Given the description of an element on the screen output the (x, y) to click on. 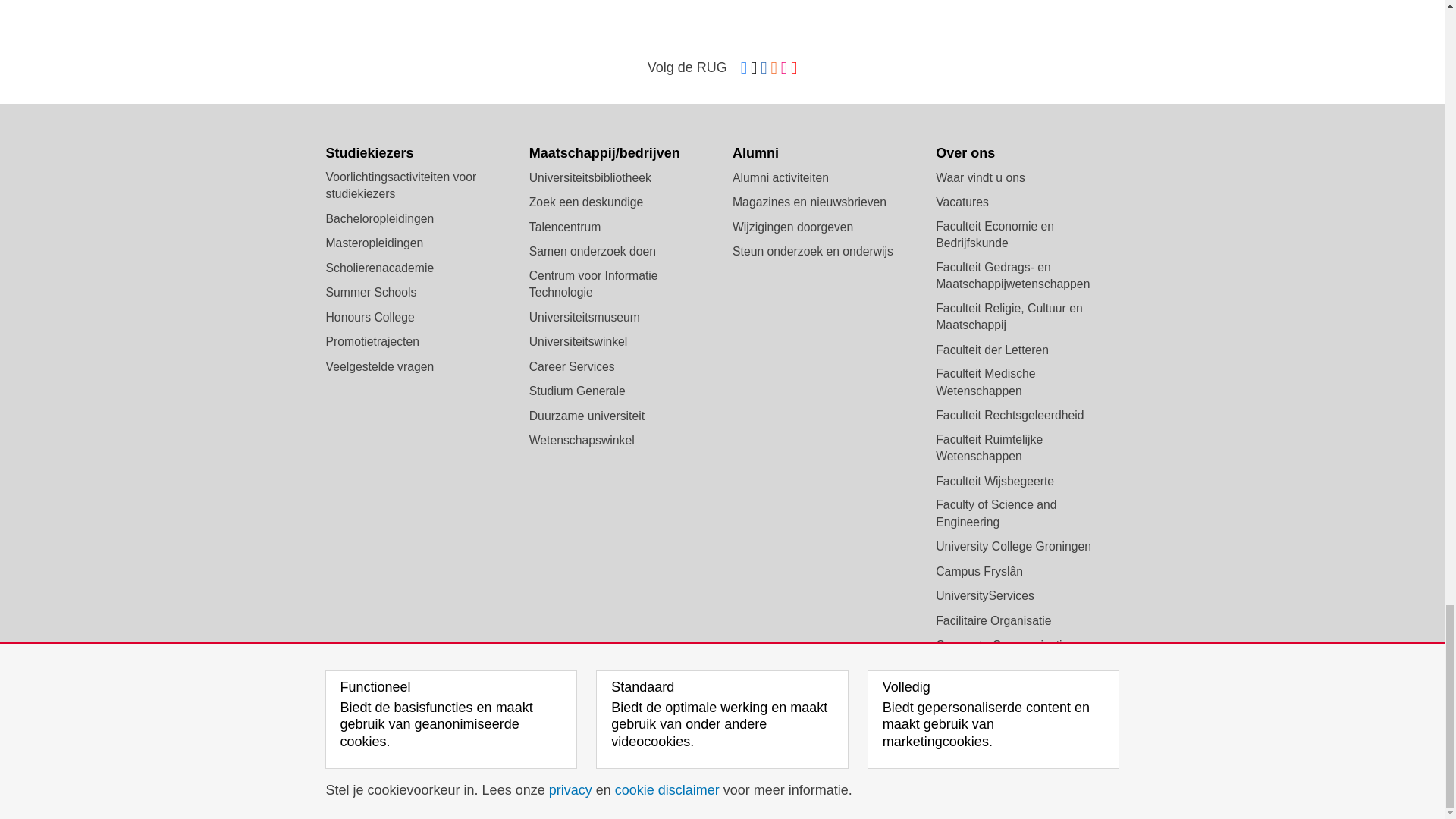
facebook (743, 67)
twitter (754, 67)
youtube (793, 67)
rss (774, 67)
instagram (783, 67)
linkedin (763, 67)
